Given the description of an element on the screen output the (x, y) to click on. 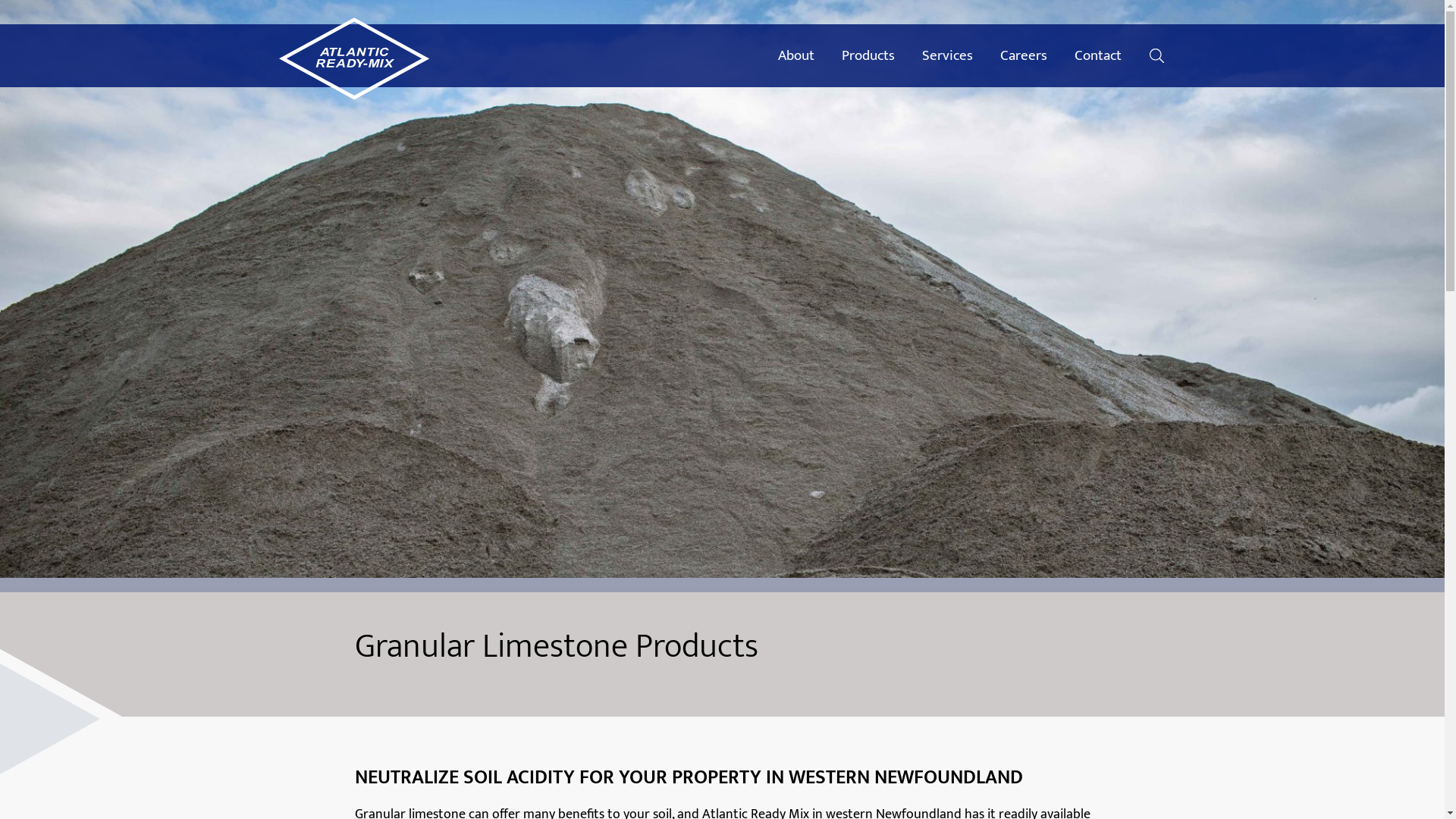
Products Element type: text (868, 55)
Services Element type: text (947, 55)
Home Element type: hover (354, 60)
Contact Element type: text (1097, 55)
WaterWerks Agency Element type: hover (727, 799)
Careers Element type: text (1023, 55)
About Element type: text (796, 55)
Show search form Element type: hover (1157, 55)
